Given the description of an element on the screen output the (x, y) to click on. 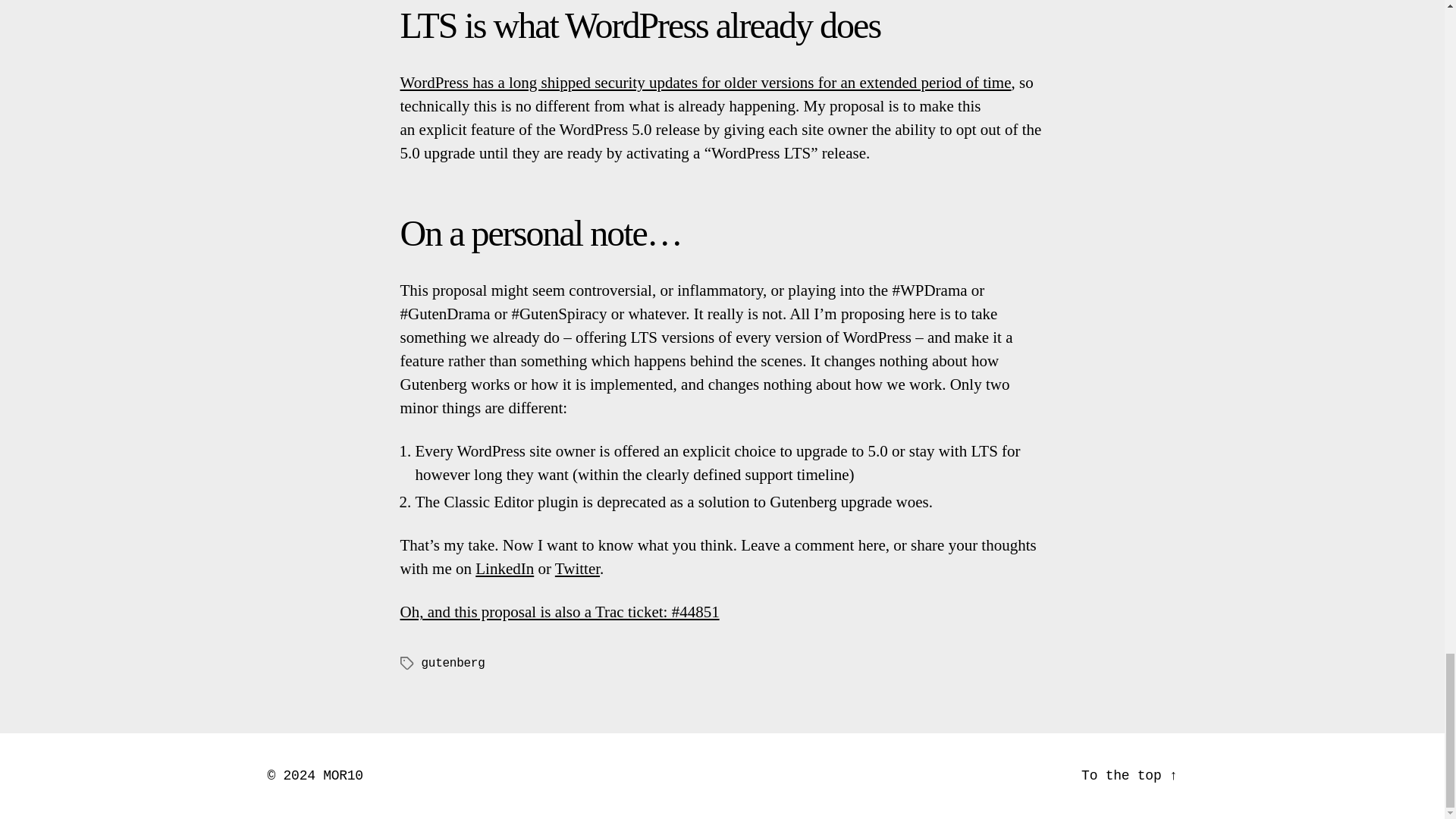
gutenberg (453, 663)
LinkedIn (505, 568)
Twitter (576, 568)
